Given the description of an element on the screen output the (x, y) to click on. 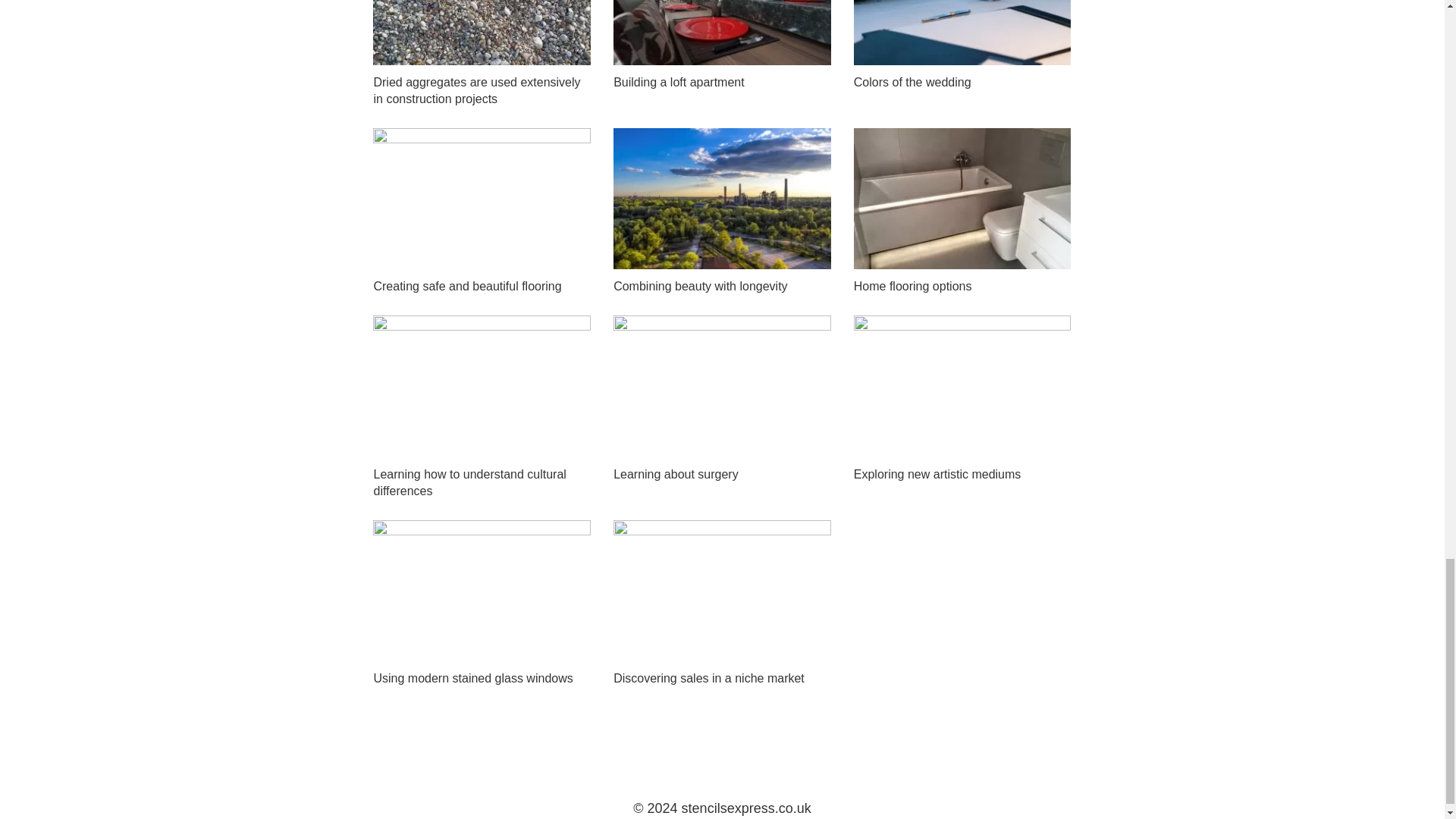
Colors of the wedding (912, 82)
Building a loft apartment (678, 82)
Learning how to understand cultural differences (469, 482)
Creating safe and beautiful flooring (466, 286)
Home flooring options (912, 286)
Combining beauty with longevity (699, 286)
Exploring new artistic mediums (937, 473)
Learning about surgery (675, 473)
